Given the description of an element on the screen output the (x, y) to click on. 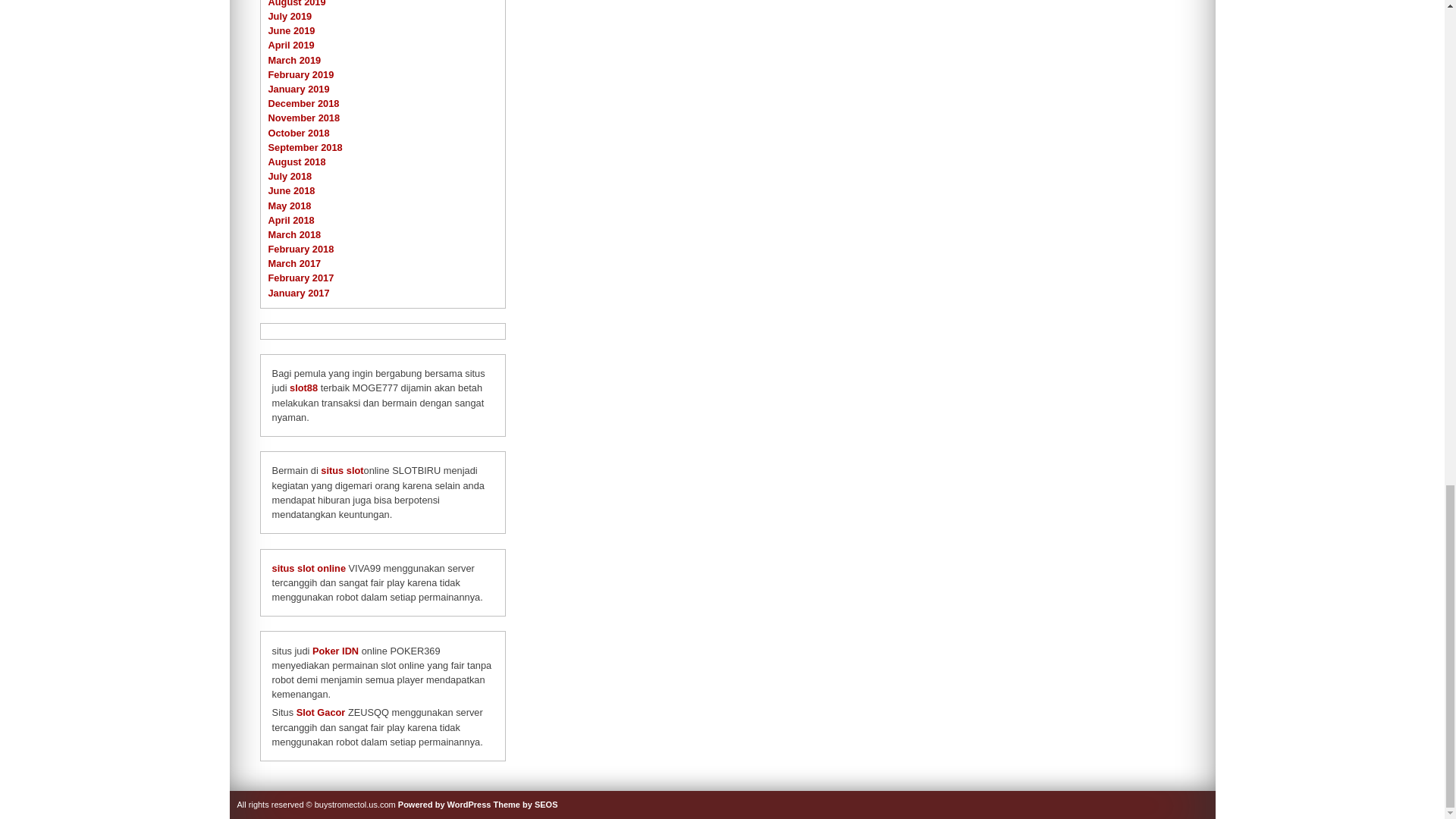
Seos free wordpress themes (525, 804)
